Given the description of an element on the screen output the (x, y) to click on. 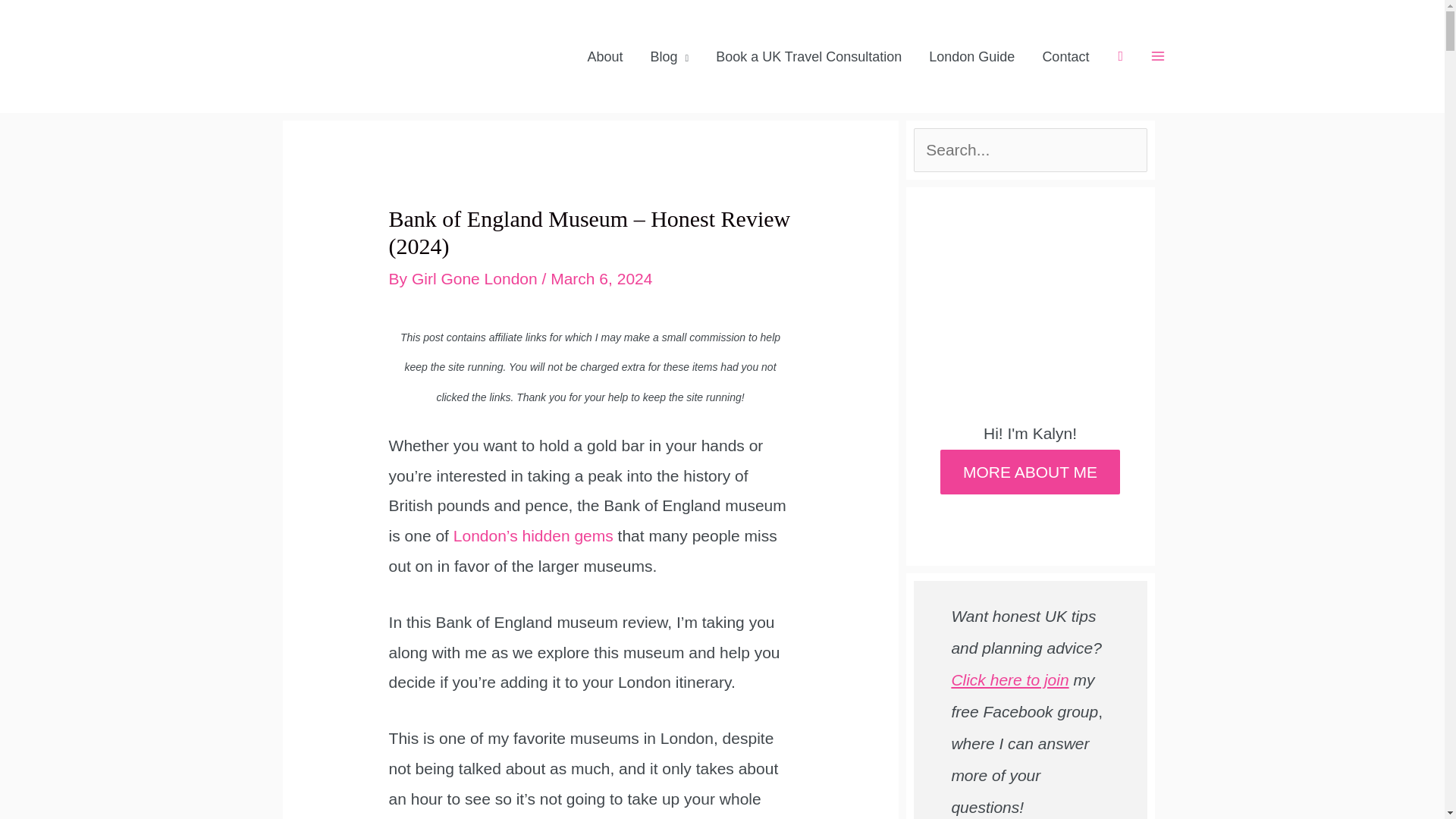
Blog (668, 56)
About (604, 56)
View all posts by Girl Gone London (476, 278)
